Given the description of an element on the screen output the (x, y) to click on. 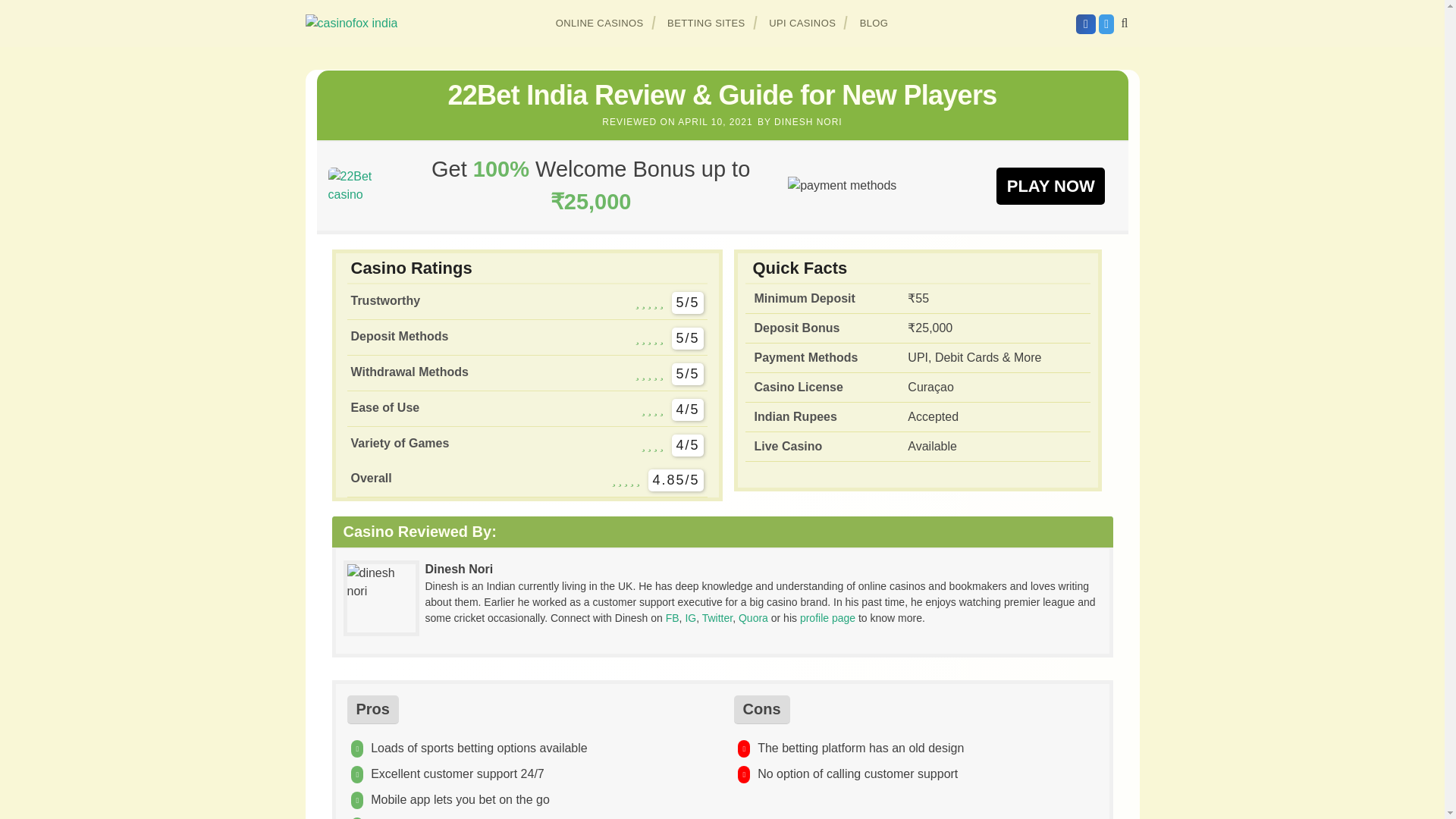
IG (689, 617)
FB (672, 617)
Quora (753, 617)
Twitter (716, 617)
profile page (827, 617)
PLAY NOW (1050, 185)
22Bet (1050, 185)
BETTING SITES (706, 23)
UPI CASINOS (801, 23)
ONLINE CASINOS (599, 23)
22Bet (360, 185)
BLOG (874, 23)
